Given the description of an element on the screen output the (x, y) to click on. 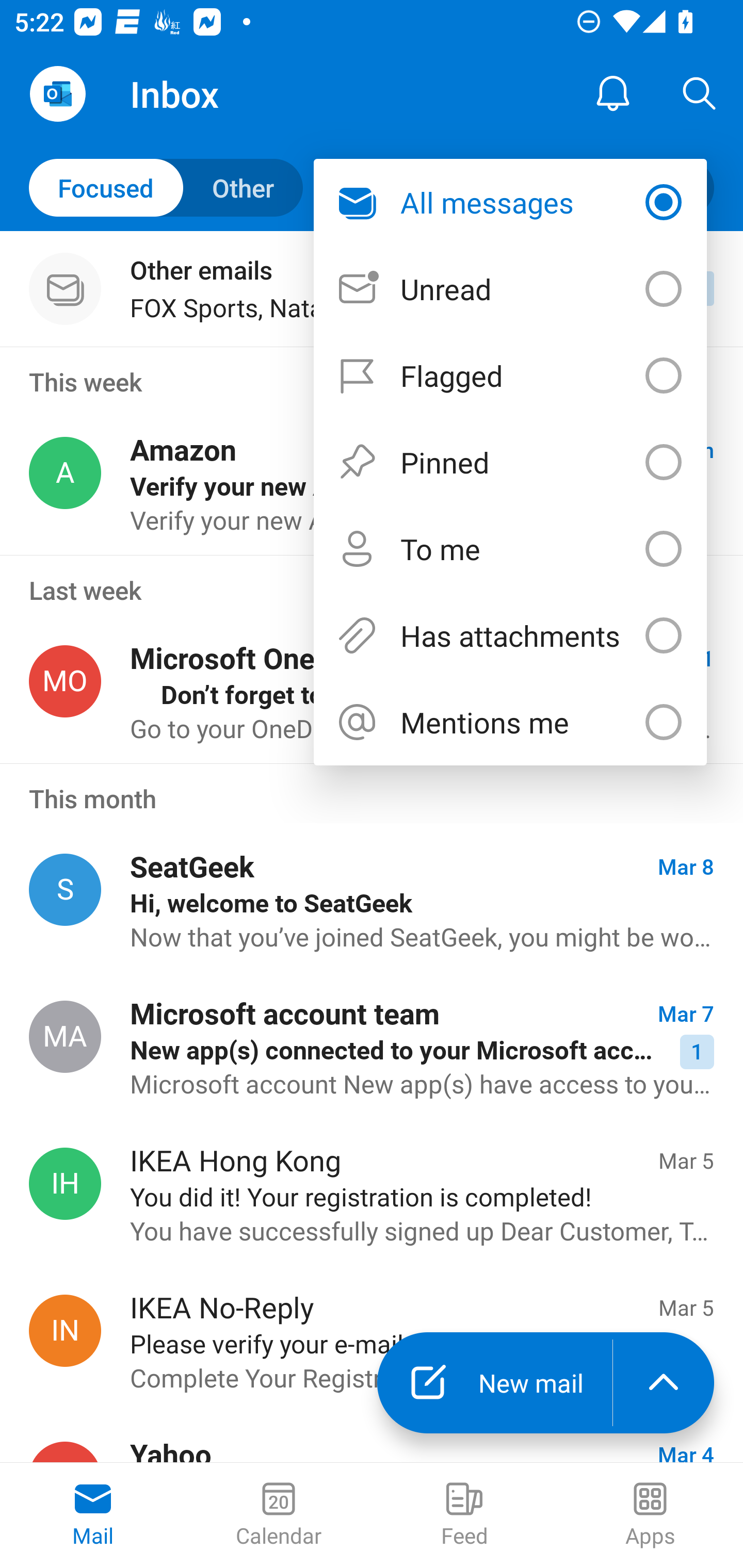
All messages (509, 202)
Unread (509, 289)
Flagged (509, 375)
Pinned (509, 461)
To me (509, 548)
Has attachments (509, 635)
Mentions me (509, 721)
